Given the description of an element on the screen output the (x, y) to click on. 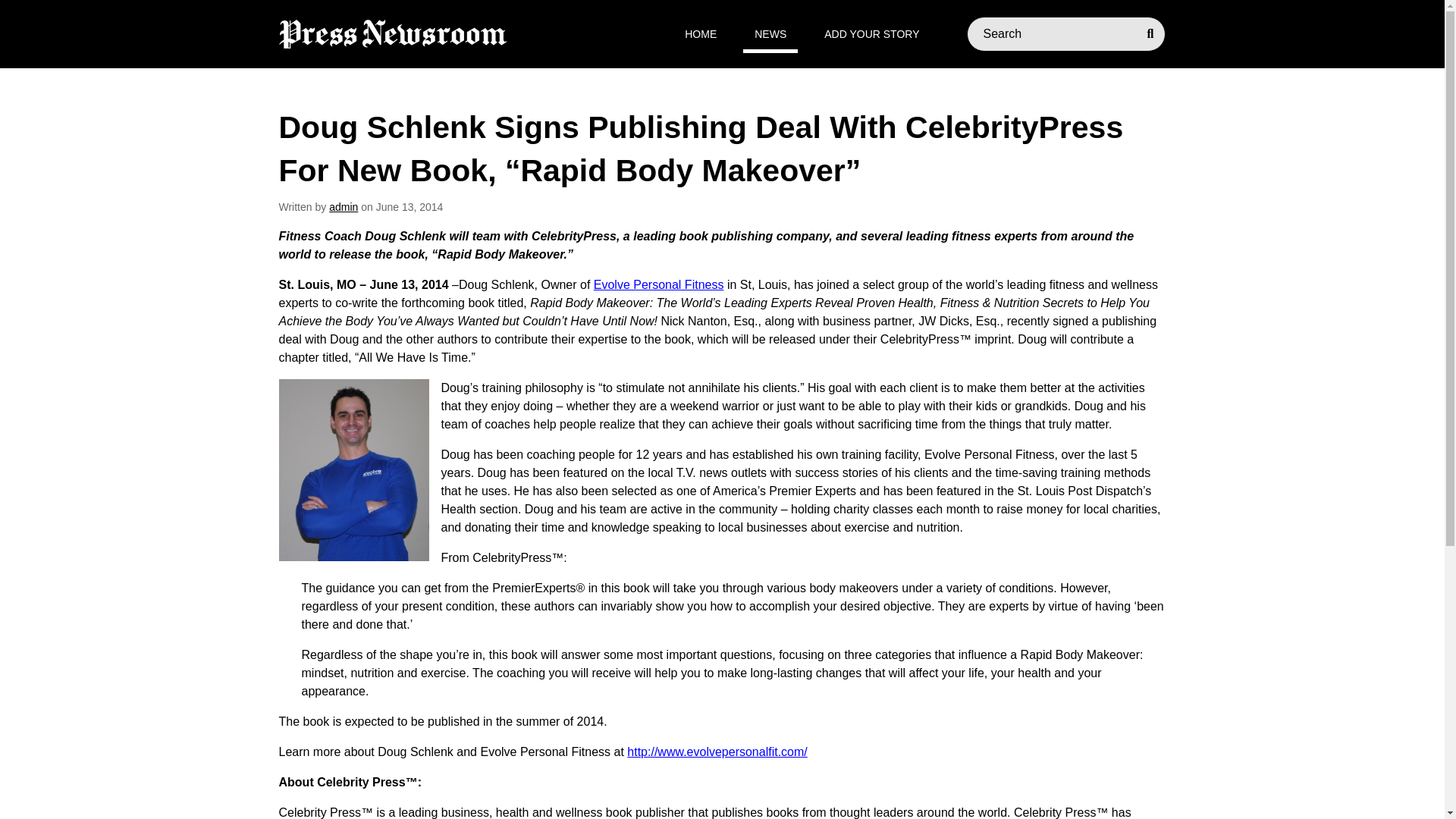
Posts by admin (343, 206)
NEWS (769, 34)
HOME (700, 34)
Evolve Personal Fitness (658, 284)
ADD YOUR STORY (871, 34)
PressNewsRoom (392, 33)
admin (343, 206)
